Given the description of an element on the screen output the (x, y) to click on. 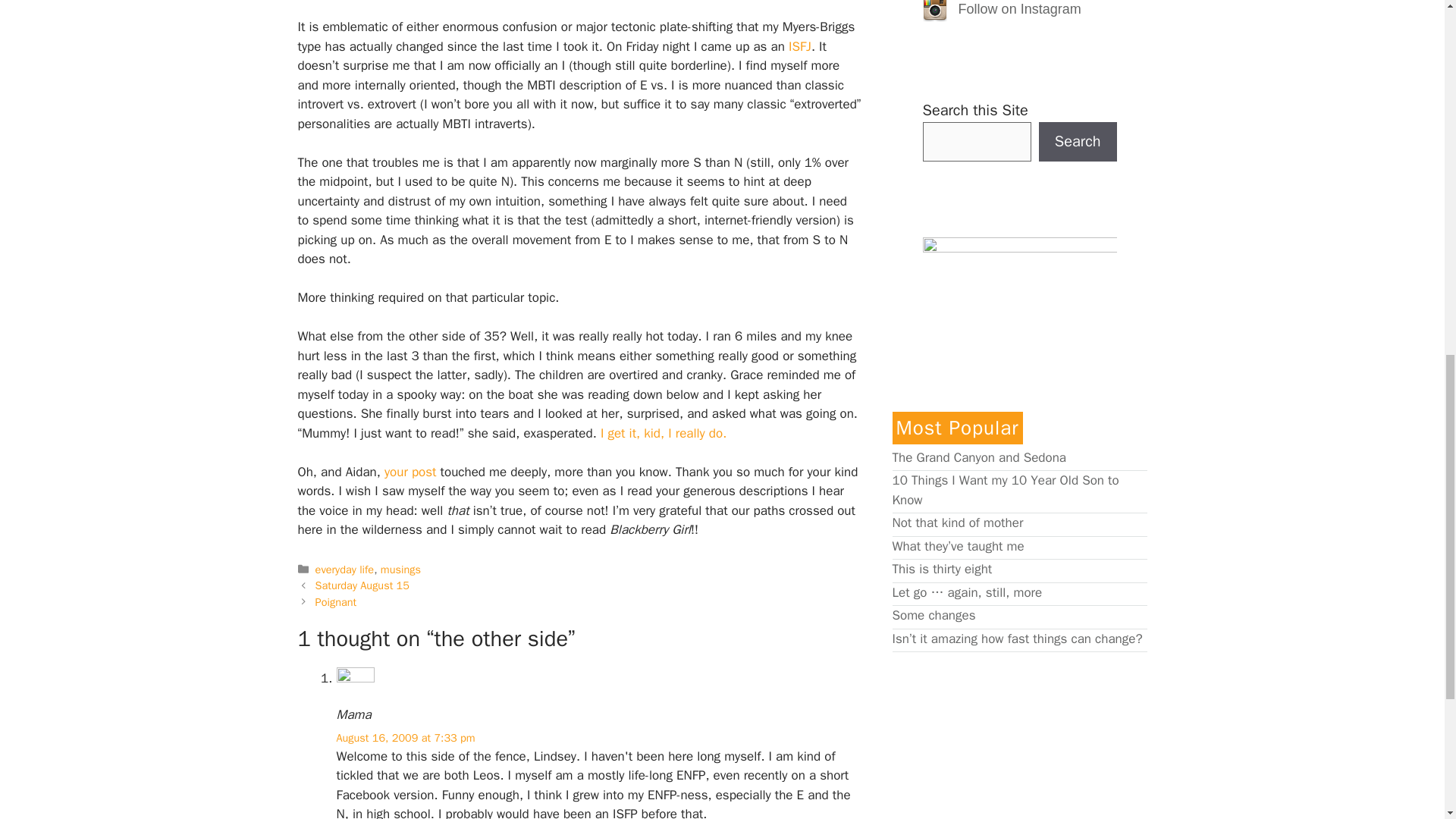
Some changes (933, 615)
ISFJ (799, 46)
musings (400, 569)
Next (335, 602)
I get it, kid, I really do. (662, 433)
your post (410, 471)
Saturday August 15 (362, 585)
Follow on Instagram (1015, 8)
Poignant (335, 602)
everyday life (344, 569)
Search (1077, 141)
Previous (362, 585)
The Grand Canyon and Sedona (978, 457)
10 Things I Want my 10 Year Old Son to Know (1004, 489)
Not that kind of mother (957, 522)
